Given the description of an element on the screen output the (x, y) to click on. 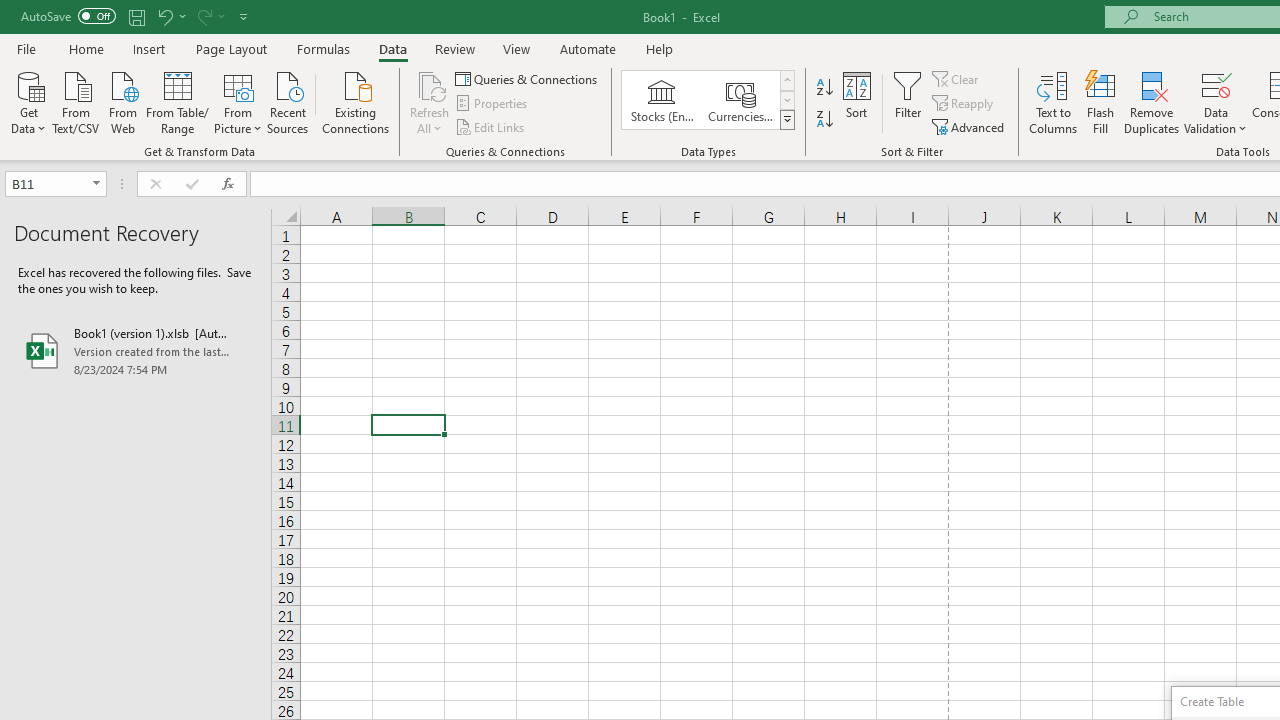
Flash Fill (1101, 102)
Reapply (964, 103)
Sort... (856, 102)
Properties (492, 103)
